Given the description of an element on the screen output the (x, y) to click on. 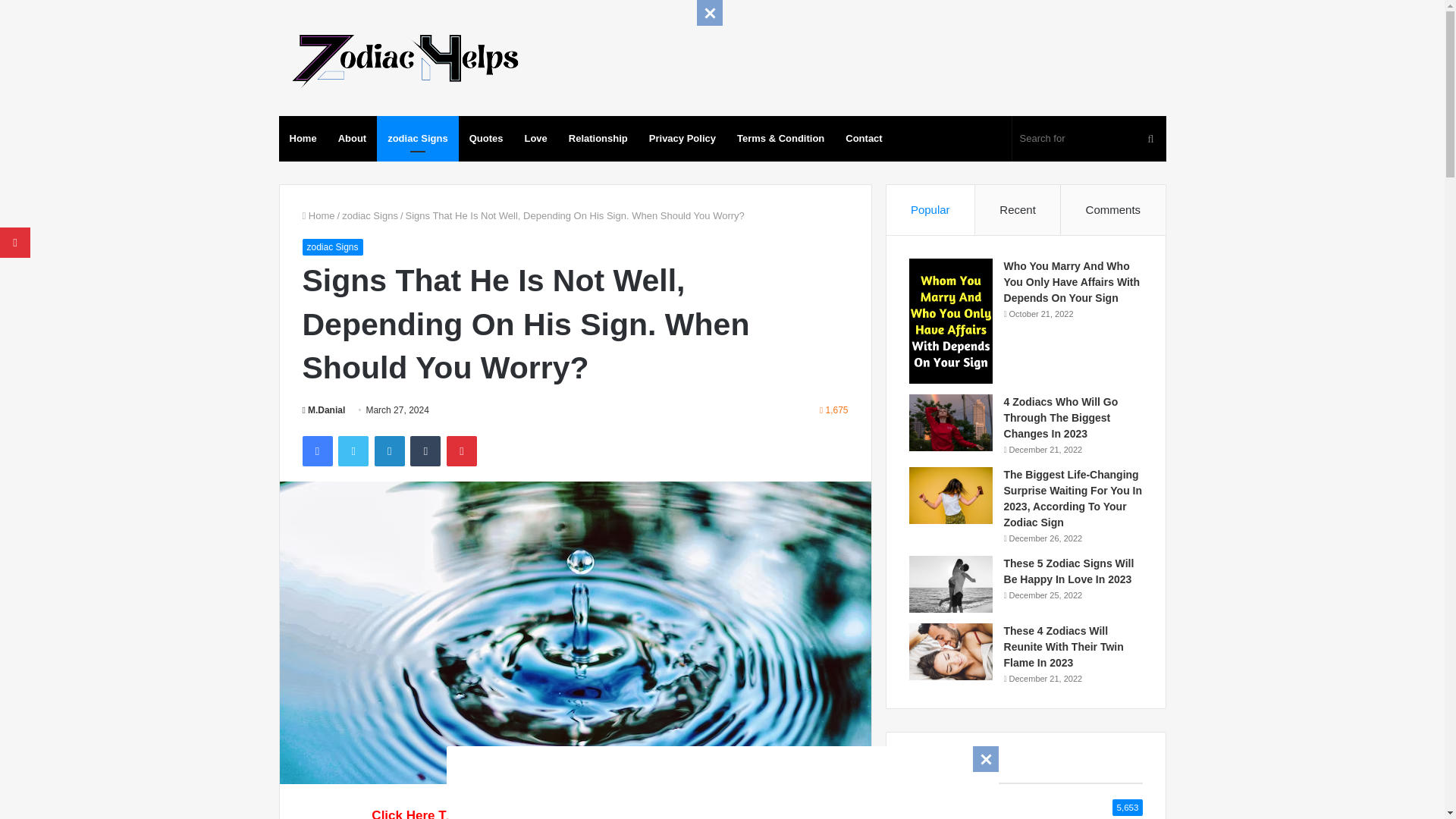
Tumblr (425, 450)
LinkedIn (389, 450)
Privacy Policy (682, 138)
Love (535, 138)
zodiac Signs (369, 215)
M.Danial (323, 409)
zodiac Signs (417, 138)
Twitter (352, 450)
Facebook (316, 450)
Facebook (316, 450)
